Given the description of an element on the screen output the (x, y) to click on. 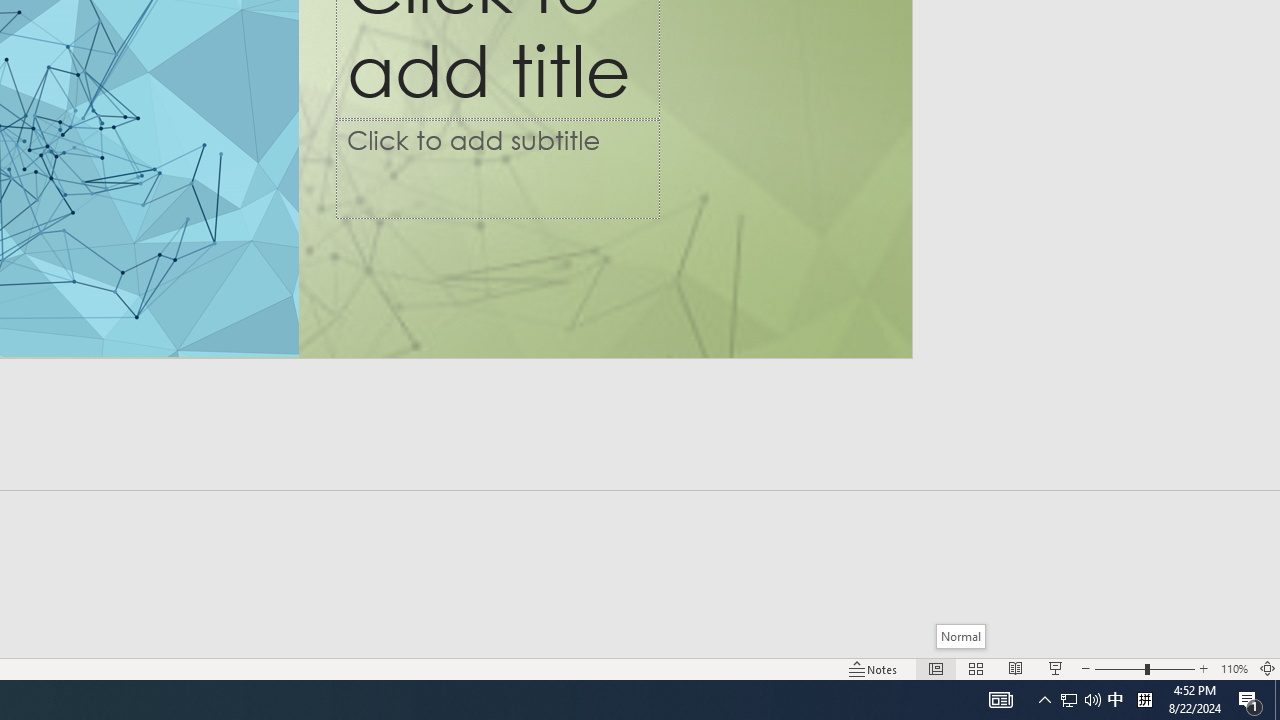
Zoom 110% (1234, 668)
